Given the description of an element on the screen output the (x, y) to click on. 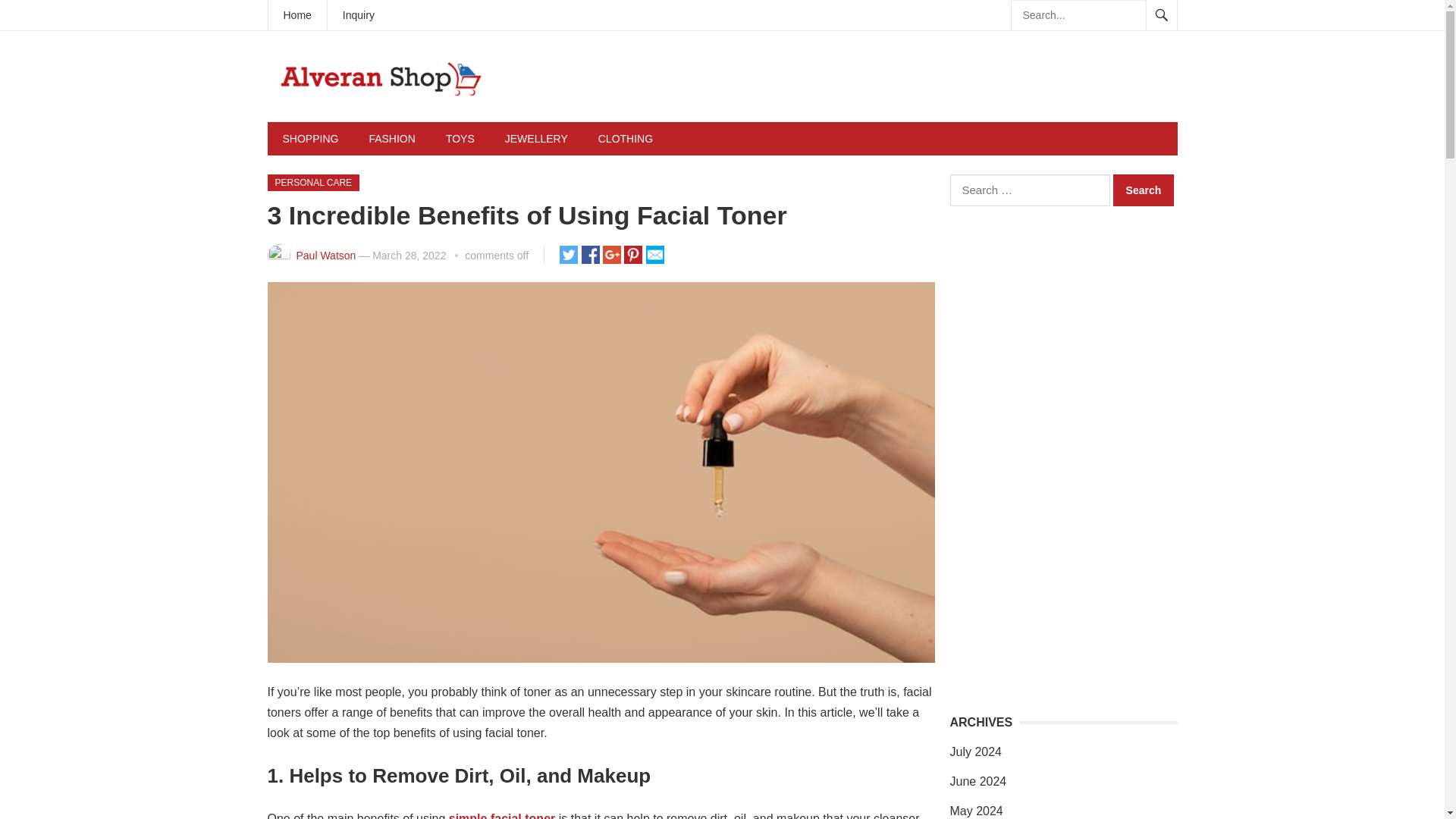
FASHION (391, 138)
Inquiry (358, 15)
May 2024 (976, 810)
Advertisement (1076, 581)
Advertisement (900, 151)
SHOPPING (309, 138)
Search (1143, 190)
CLOTHING (625, 138)
View all posts in Personal Care (312, 182)
TOYS (459, 138)
June 2024 (977, 780)
PERSONAL CARE (312, 182)
Search (1143, 190)
Posts by Paul Watson (325, 255)
Home (296, 15)
